Given the description of an element on the screen output the (x, y) to click on. 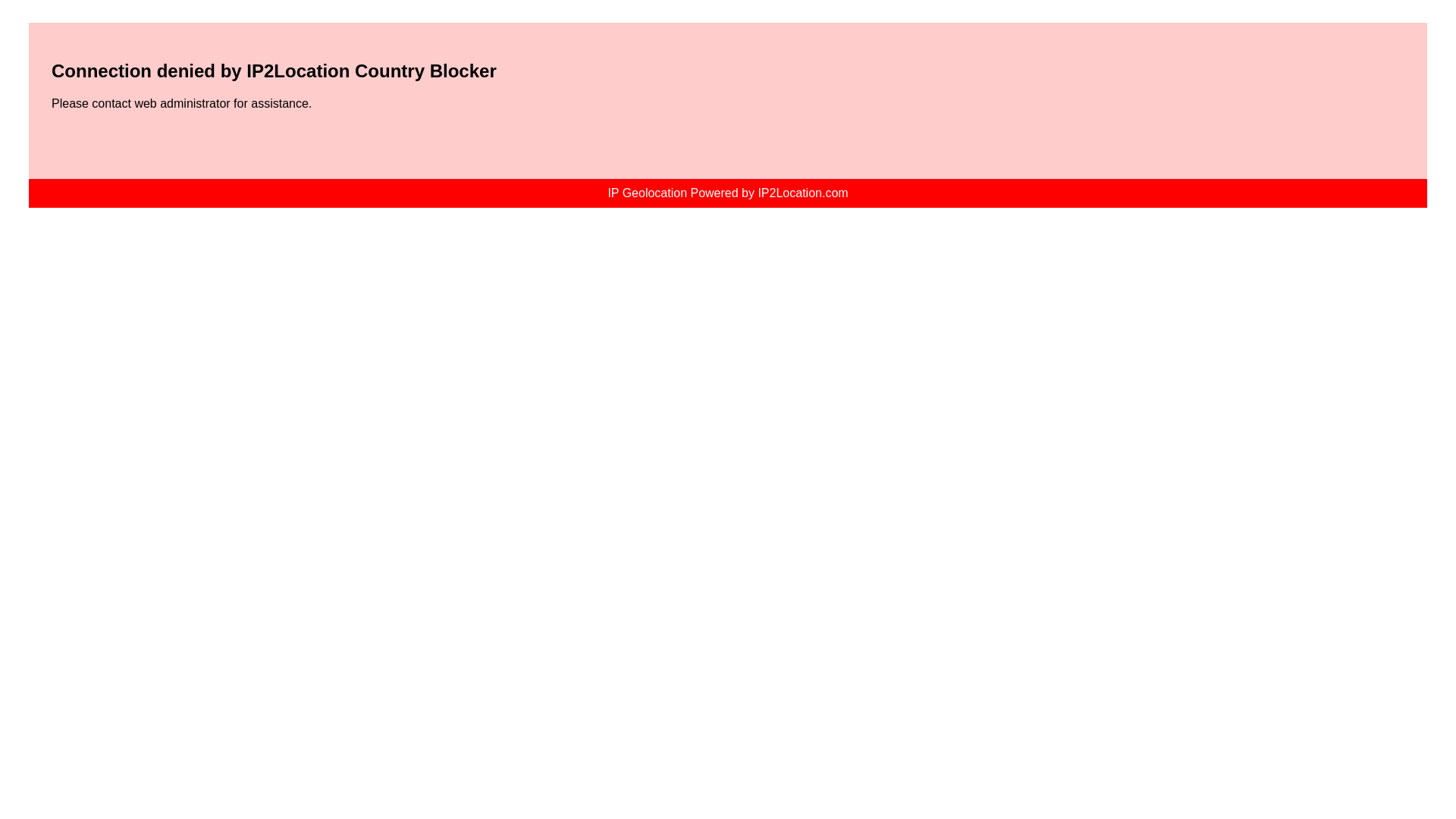
IP Geolocation Powered by IP2Location.com Element type: text (727, 192)
